Given the description of an element on the screen output the (x, y) to click on. 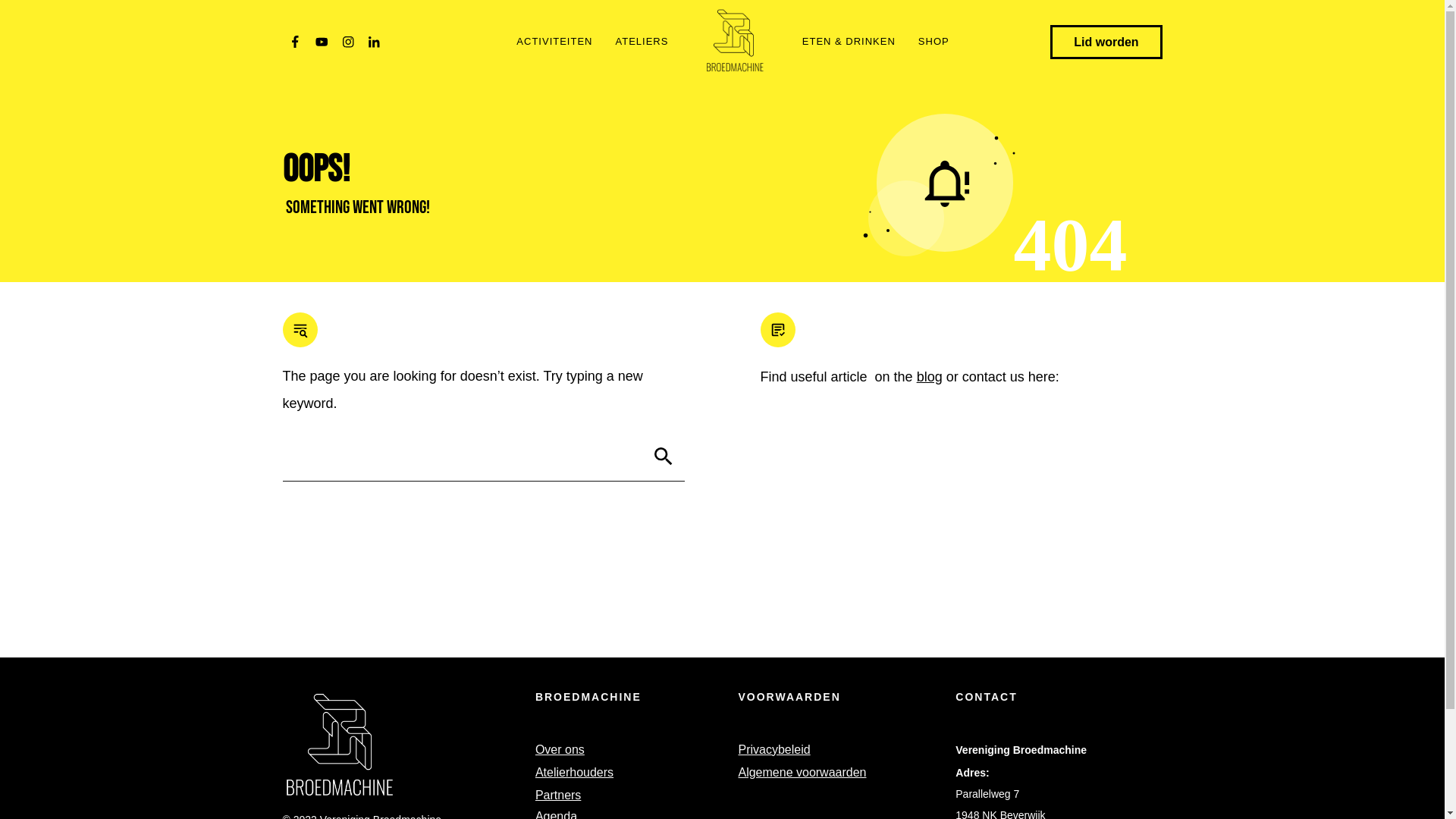
Atelierhouders Element type: text (574, 771)
Over ons Element type: text (559, 749)
blog Element type: text (929, 376)
SHOP Element type: text (933, 41)
Algemene voorwaarden Element type: text (801, 771)
ACTIVITEITEN Element type: text (554, 41)
ETEN & DRINKEN Element type: text (848, 41)
Privacybeleid Element type: text (773, 749)
Partners Element type: text (557, 795)
Lid worden Element type: text (1105, 42)
ATELIERS Element type: text (641, 41)
